Given the description of an element on the screen output the (x, y) to click on. 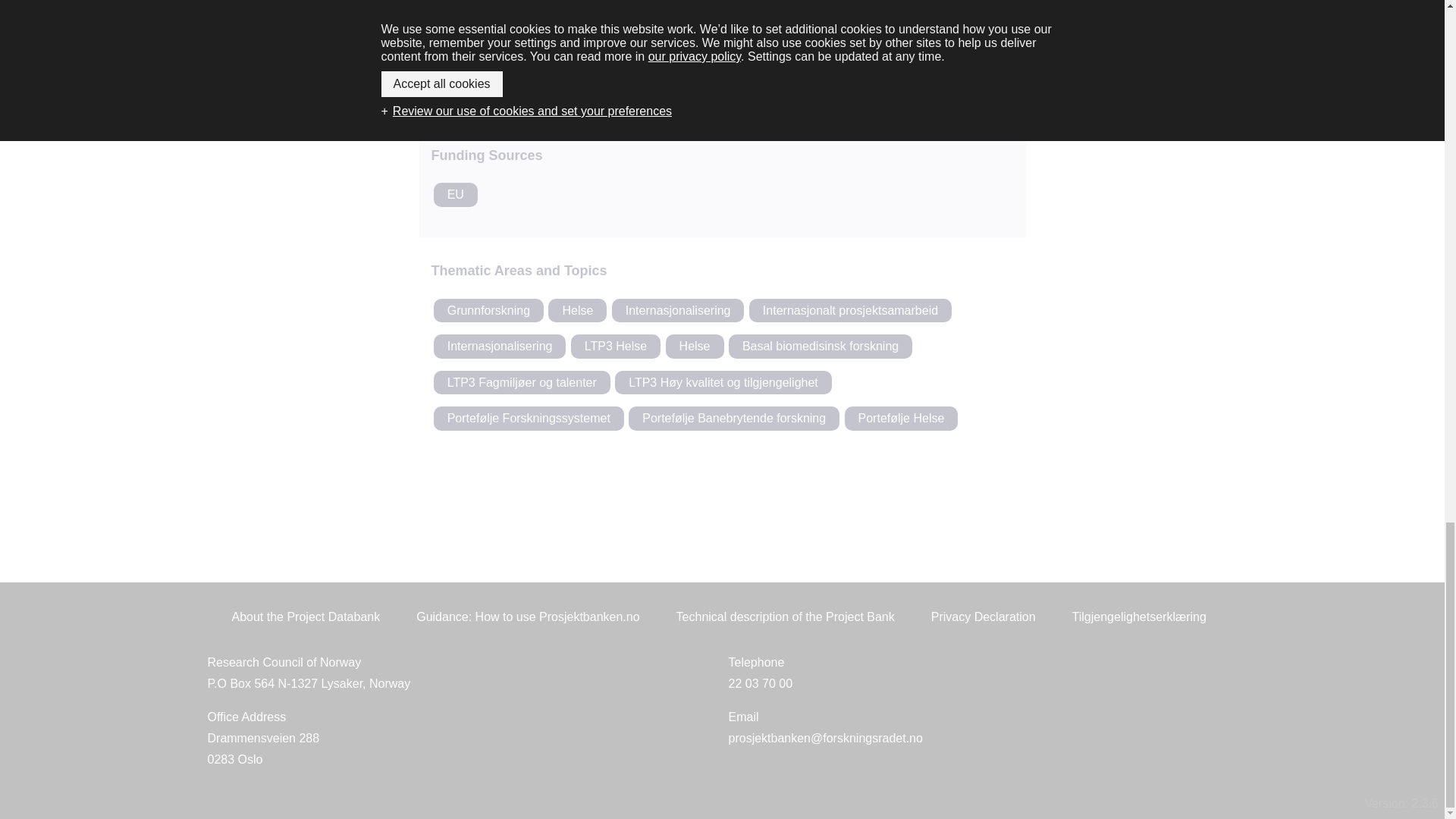
Basal biomedisinsk forskning (820, 346)
Internasjonalisering (499, 346)
Grunnforskning (488, 310)
LTP3 Helse (916, 42)
EU (615, 346)
Internasjonalt prosjektsamarbeid (455, 194)
Helse (721, 42)
Guidance: How to use Prosjektbanken.no (850, 310)
Internasjonalisering (694, 346)
About the Project Databank (527, 42)
Helse (527, 617)
Technical description of the Project Bank (677, 310)
